Given the description of an element on the screen output the (x, y) to click on. 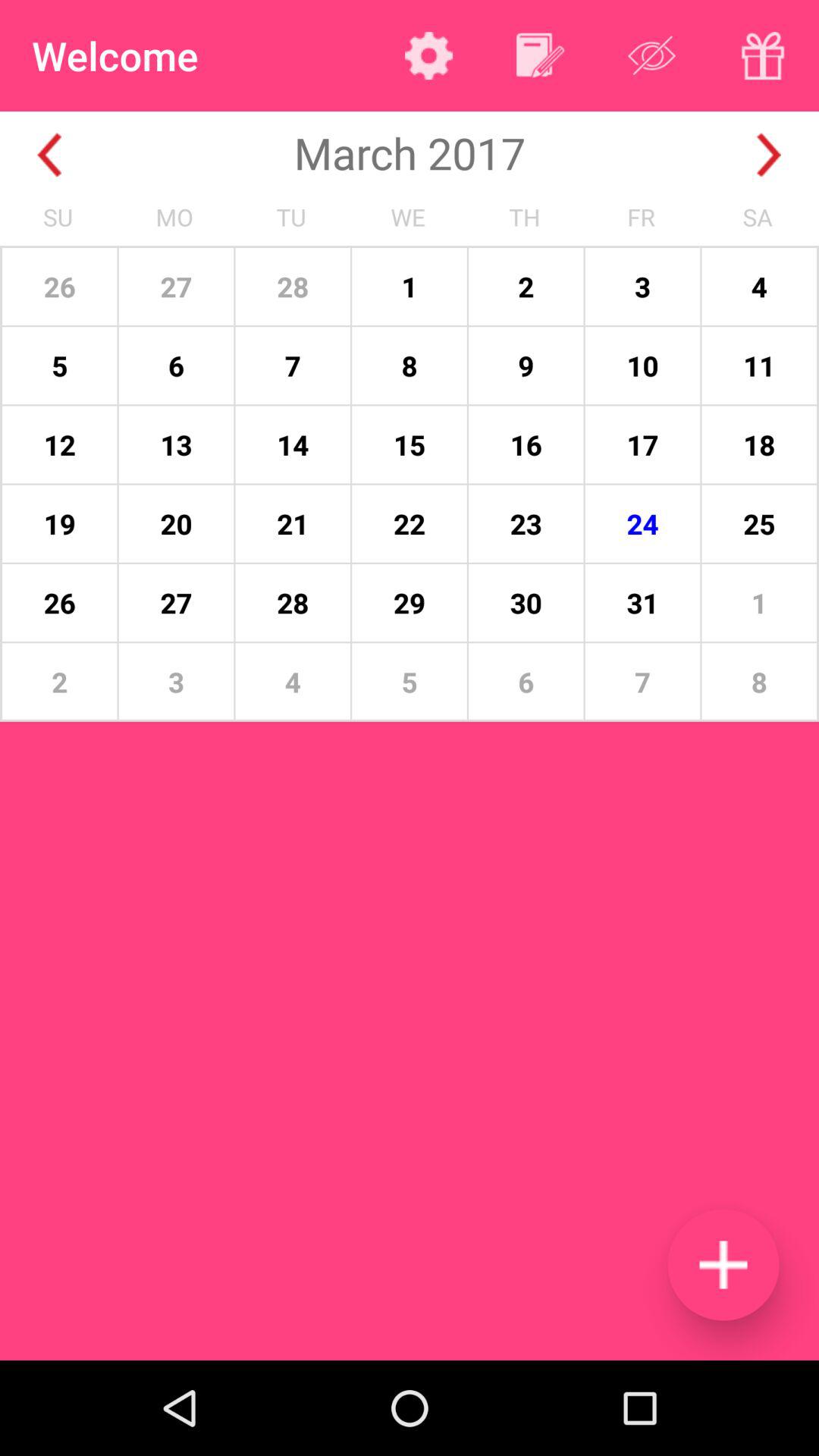
add event to calendar (723, 1264)
